Given the description of an element on the screen output the (x, y) to click on. 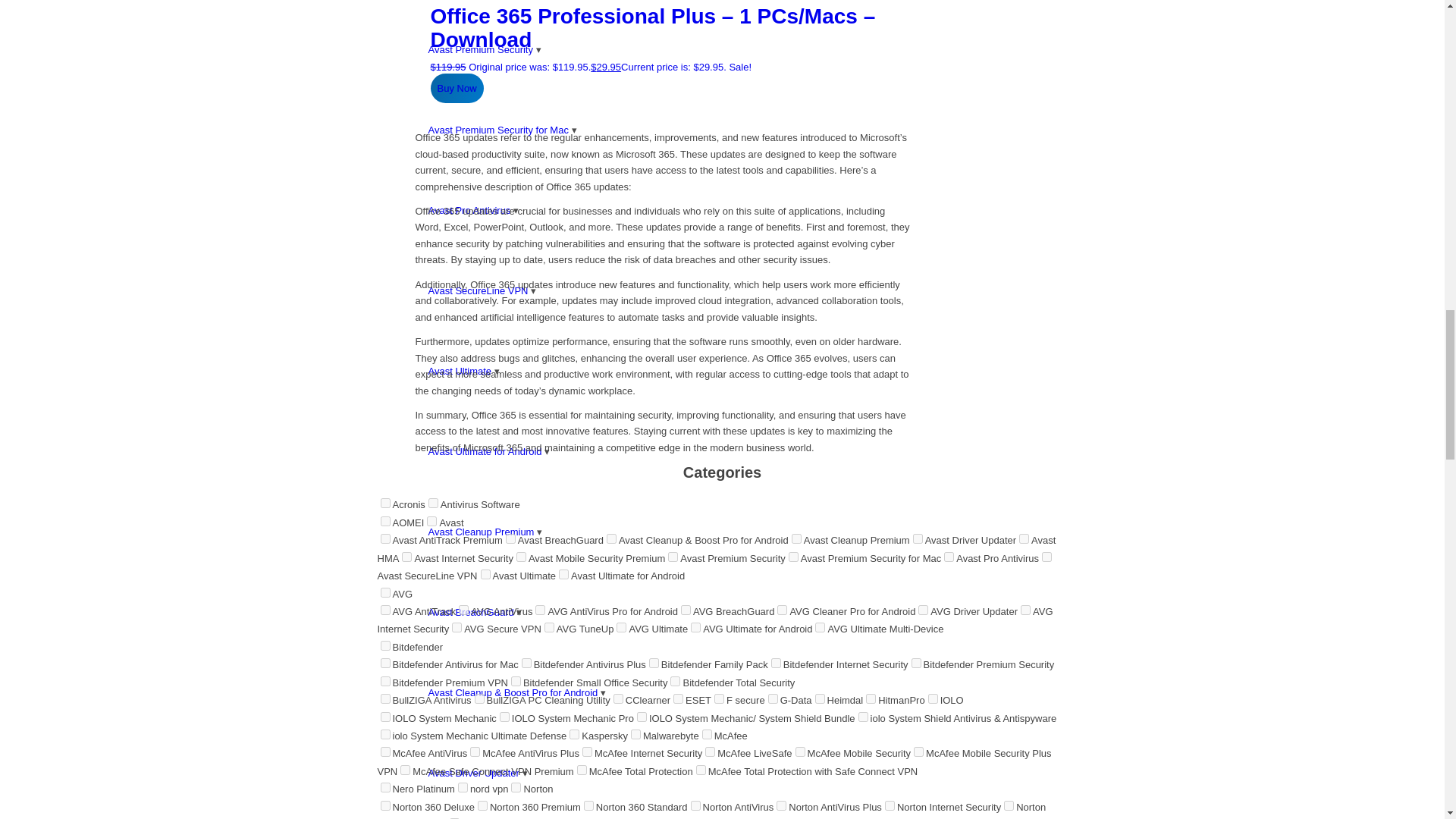
Avast Premium Security for Mac (502, 129)
Avast Premium Security (484, 49)
avast-breachguard (510, 538)
avast-cleanup-boost-pro-for-android (611, 538)
avast-cleanup-premium (797, 538)
Avast Driver Updater (477, 772)
Avast Cleanup Premium (484, 531)
avast-premium-security-for-mac (793, 556)
avast-ultimate-for-android (564, 574)
avast-ultimate (485, 574)
